Given the description of an element on the screen output the (x, y) to click on. 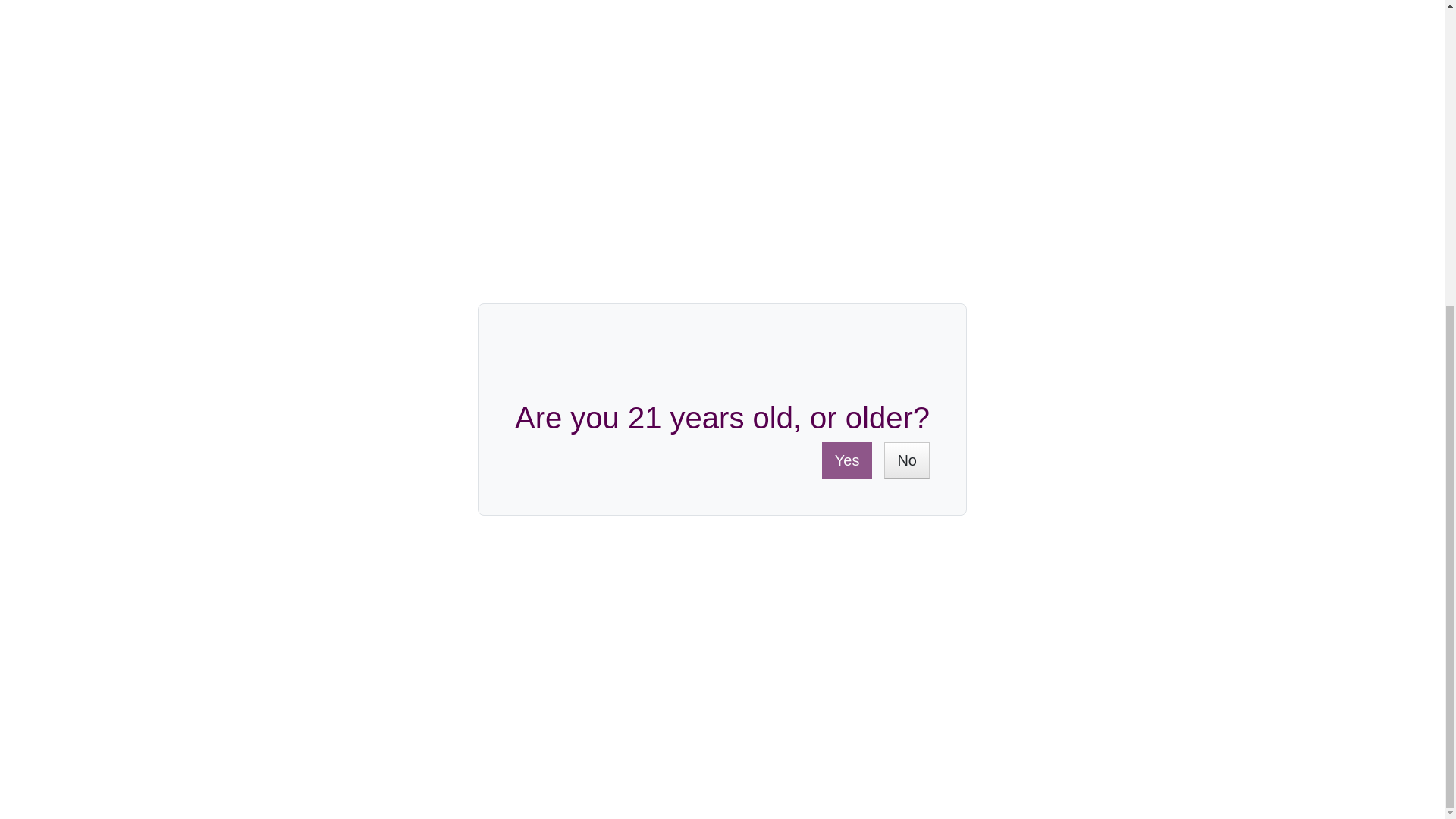
EVENTS (942, 523)
INSTORE PICKUP (639, 523)
4 Copas (479, 260)
Mexico (476, 229)
ABOUT US (1048, 523)
PRIVACY POLICY (809, 523)
LOCAL DELIVERY (468, 523)
SHIPPING INFO (304, 523)
Blanco (476, 198)
SIGNUP (1040, 463)
